Given the description of an element on the screen output the (x, y) to click on. 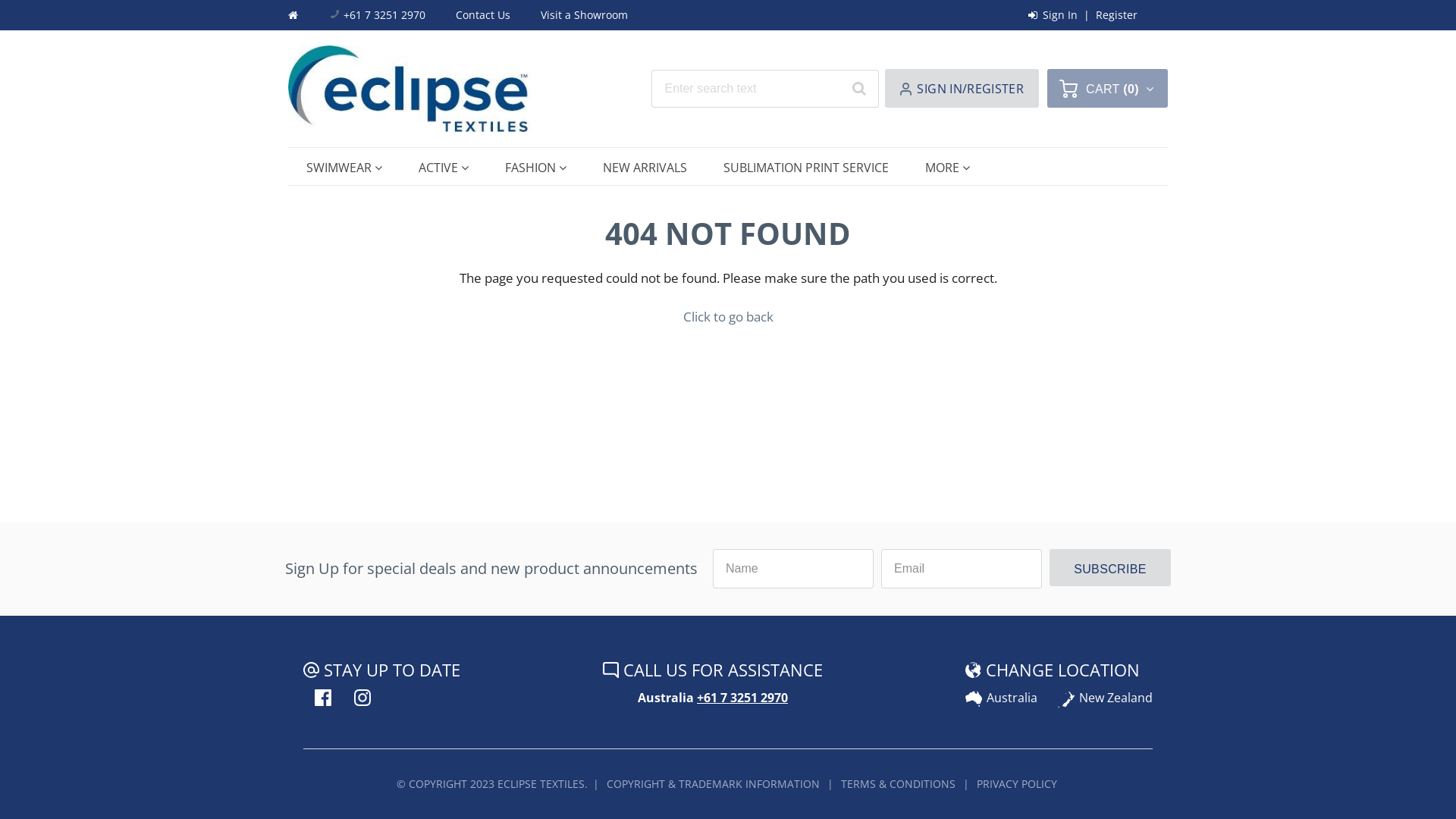
ACTIVE Element type: text (443, 167)
SUBLIMATION PRINT SERVICE Element type: text (805, 167)
New Zealand Element type: text (1104, 697)
Contact Us Element type: text (482, 15)
SIGN IN/REGISTER Element type: text (961, 88)
FASHION Element type: text (535, 167)
CART (0) Element type: text (1107, 88)
Visit a Showroom Element type: text (583, 15)
Sign In Element type: text (1052, 15)
| Element type: text (830, 783)
Facebook Element type: text (322, 697)
PRIVACY POLICY Element type: text (1016, 783)
+61 7 3251 2970 Element type: text (741, 697)
MORE Element type: text (947, 167)
Subscribe Element type: text (1109, 567)
COPYRIGHT & TRADEMARK INFORMATION Element type: text (713, 783)
Australia Element type: text (1001, 697)
Click to go back Element type: text (727, 316)
| Element type: text (595, 783)
SWIMWEAR Element type: text (344, 167)
| Element type: text (965, 783)
Register Element type: text (1116, 15)
+61 7 3251 2970 Element type: text (377, 14)
TERMS & CONDITIONS Element type: text (897, 783)
NEW ARRIVALS Element type: text (644, 167)
Instagram Element type: text (362, 697)
